Given the description of an element on the screen output the (x, y) to click on. 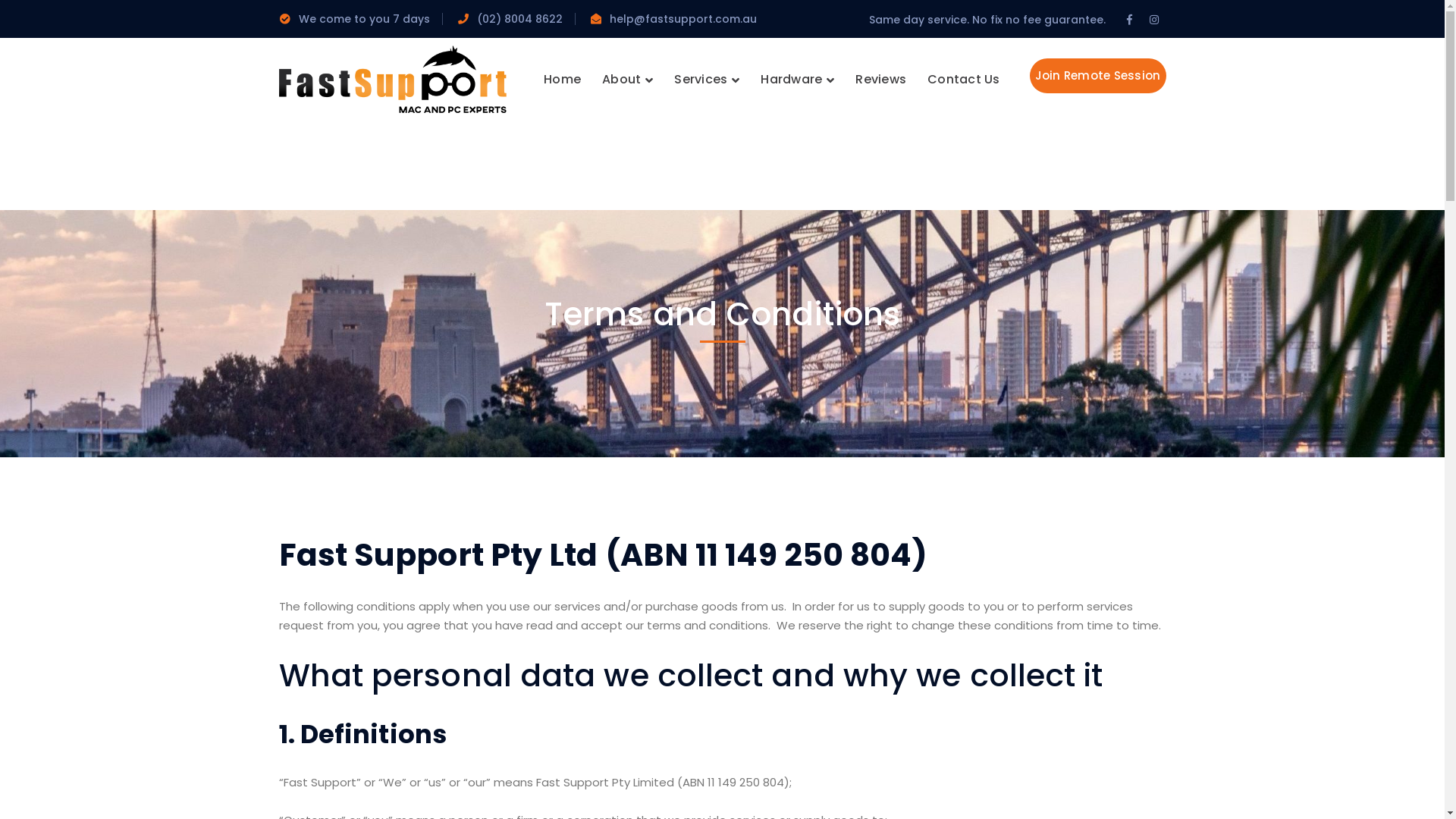
Hardware Element type: text (797, 79)
Contact Us Element type: text (963, 79)
Home Element type: text (561, 79)
Facebook Profile Element type: text (1129, 19)
Join Remote Session Element type: text (1097, 75)
About Element type: text (627, 79)
Instagram Profile Element type: text (1154, 19)
Services Element type: text (706, 79)
Reviews Element type: text (880, 79)
